Given the description of an element on the screen output the (x, y) to click on. 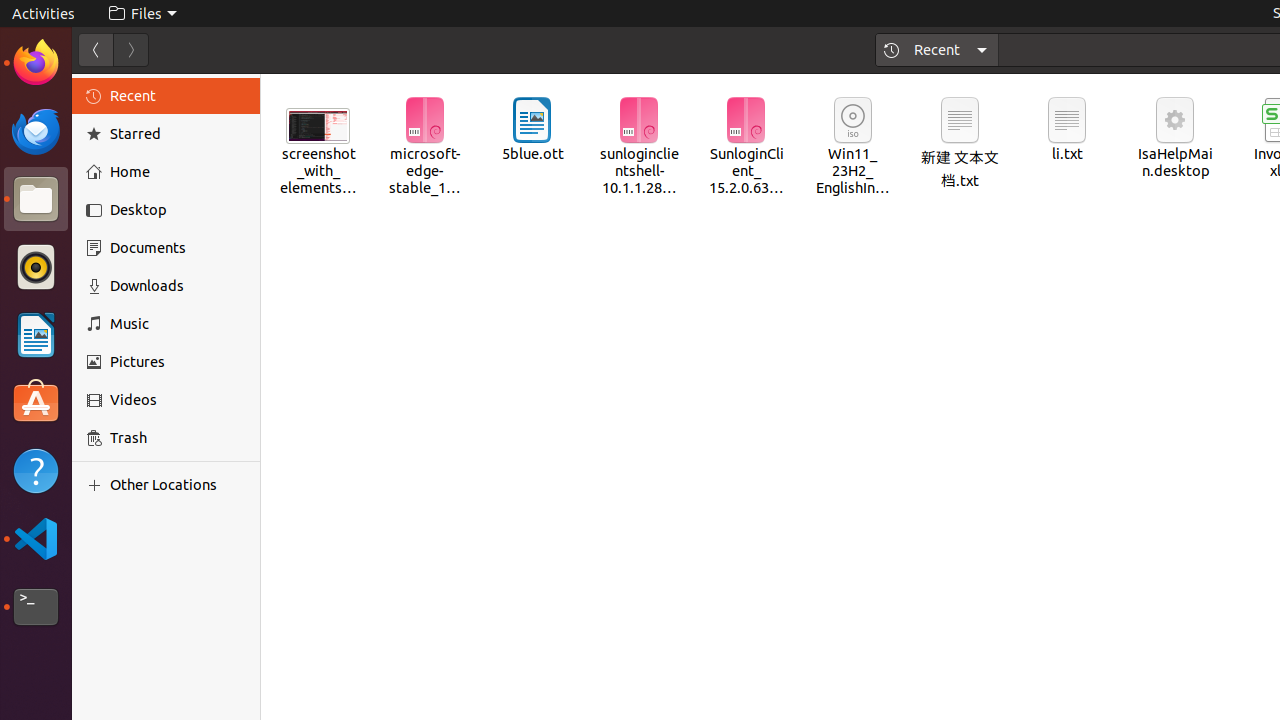
screenshot_with_elements.png Element type: canvas (317, 139)
microsoft-edge-stable_128.0.2739.67-1_amd64.deb Element type: canvas (425, 147)
li.txt Element type: canvas (1067, 130)
Other Locations Element type: label (178, 485)
